Given the description of an element on the screen output the (x, y) to click on. 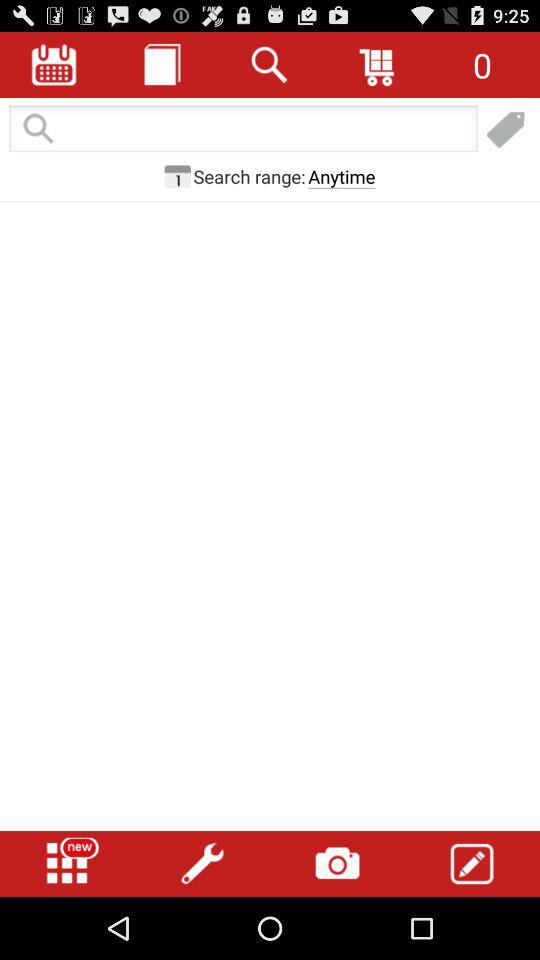
press icon to the left of the anytime button (249, 175)
